Given the description of an element on the screen output the (x, y) to click on. 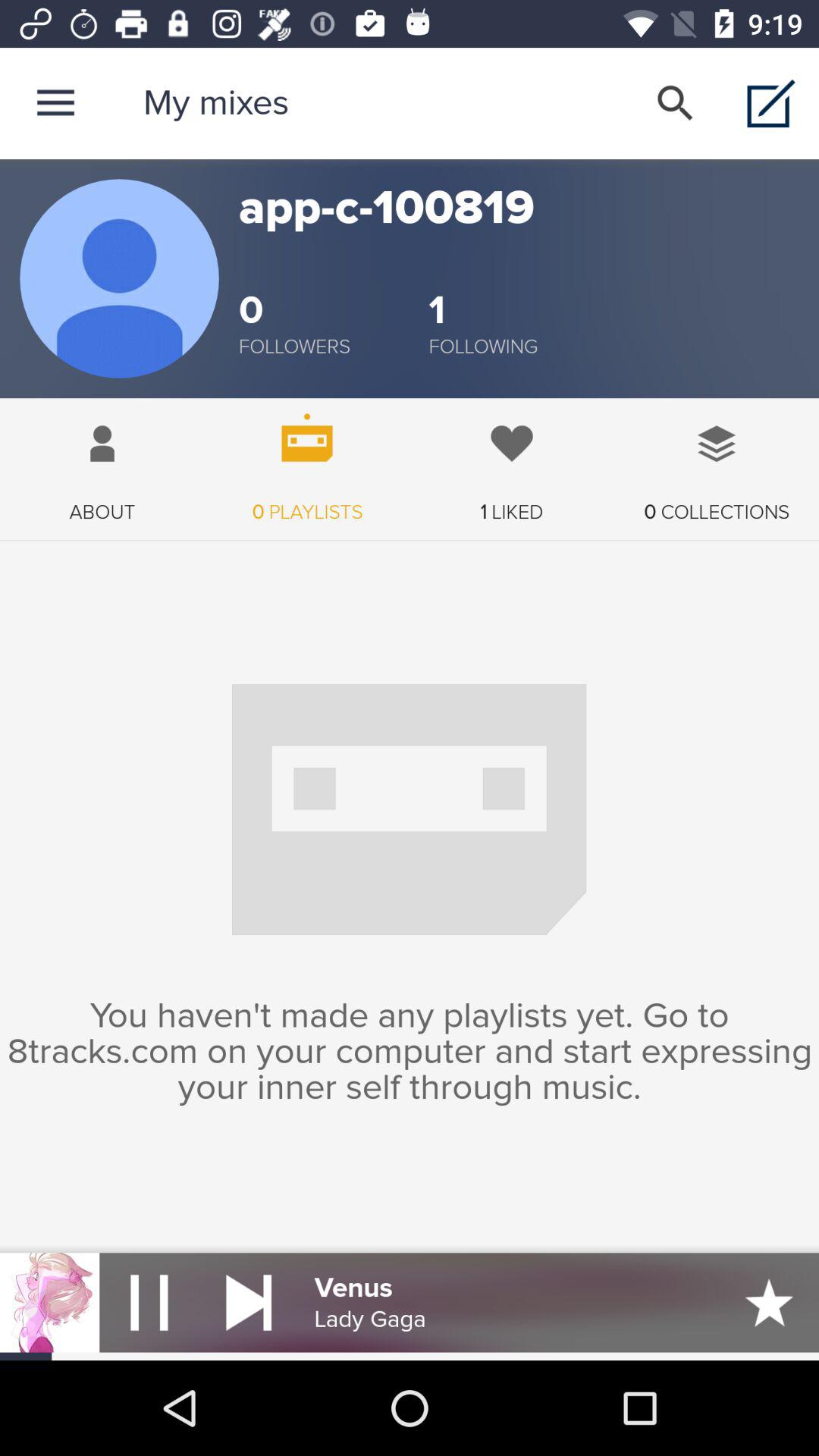
tap app to the right of 0 playlists app (511, 461)
